Given the description of an element on the screen output the (x, y) to click on. 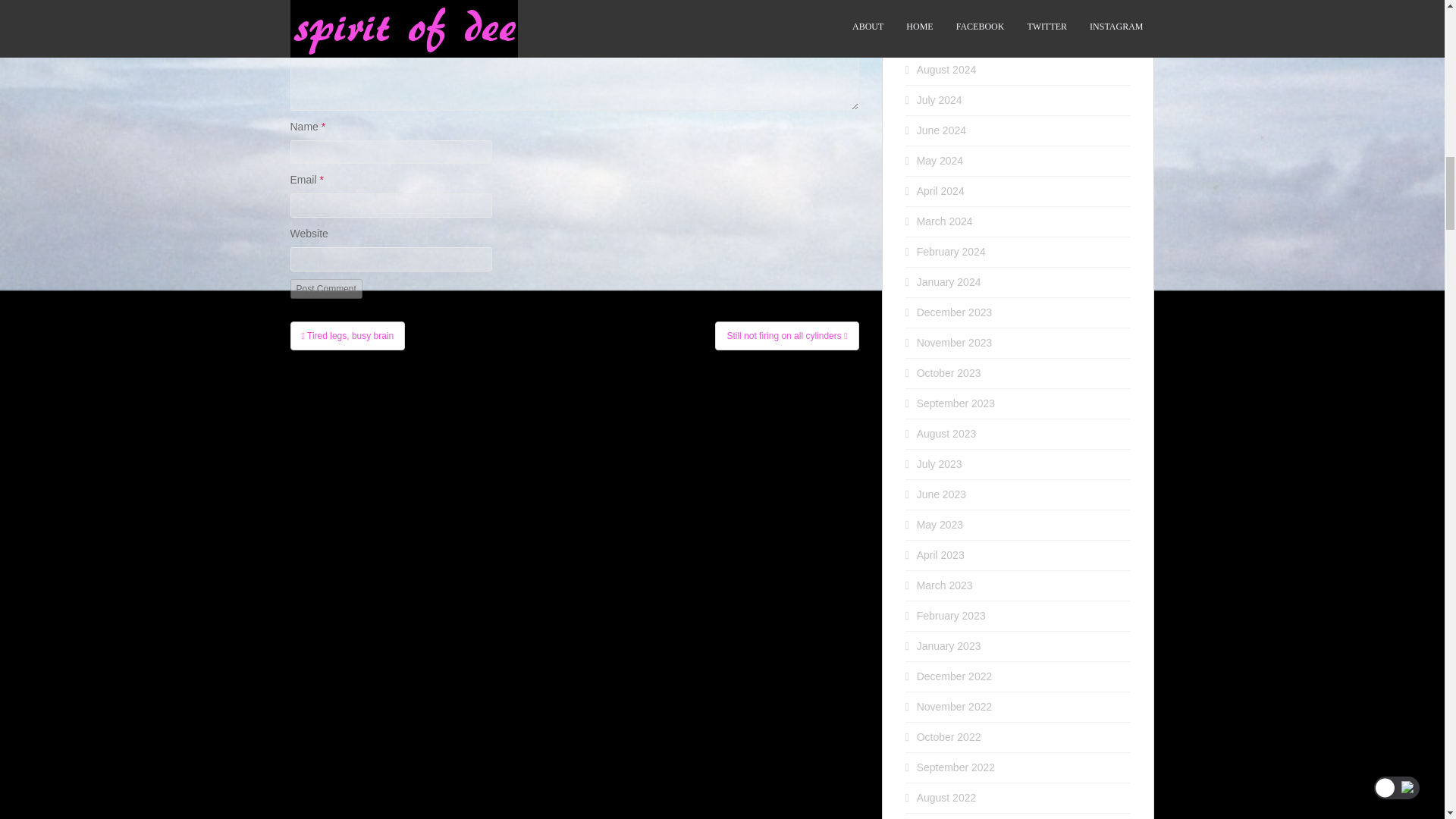
Post Comment (325, 288)
Tired legs, busy brain (346, 335)
Still not firing on all cylinders (786, 335)
Post Comment (325, 288)
